Given the description of an element on the screen output the (x, y) to click on. 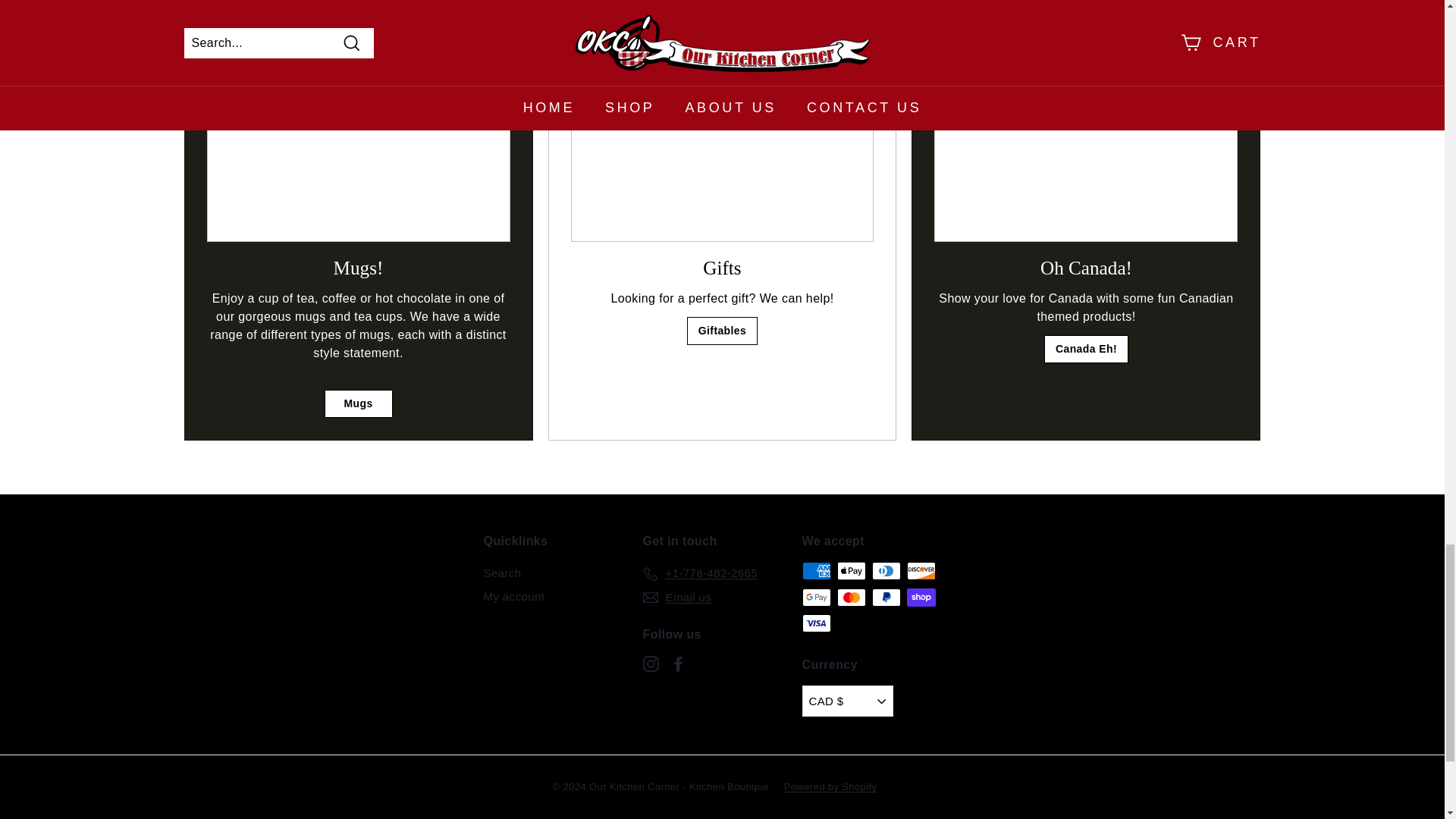
American Express (816, 570)
